Given the description of an element on the screen output the (x, y) to click on. 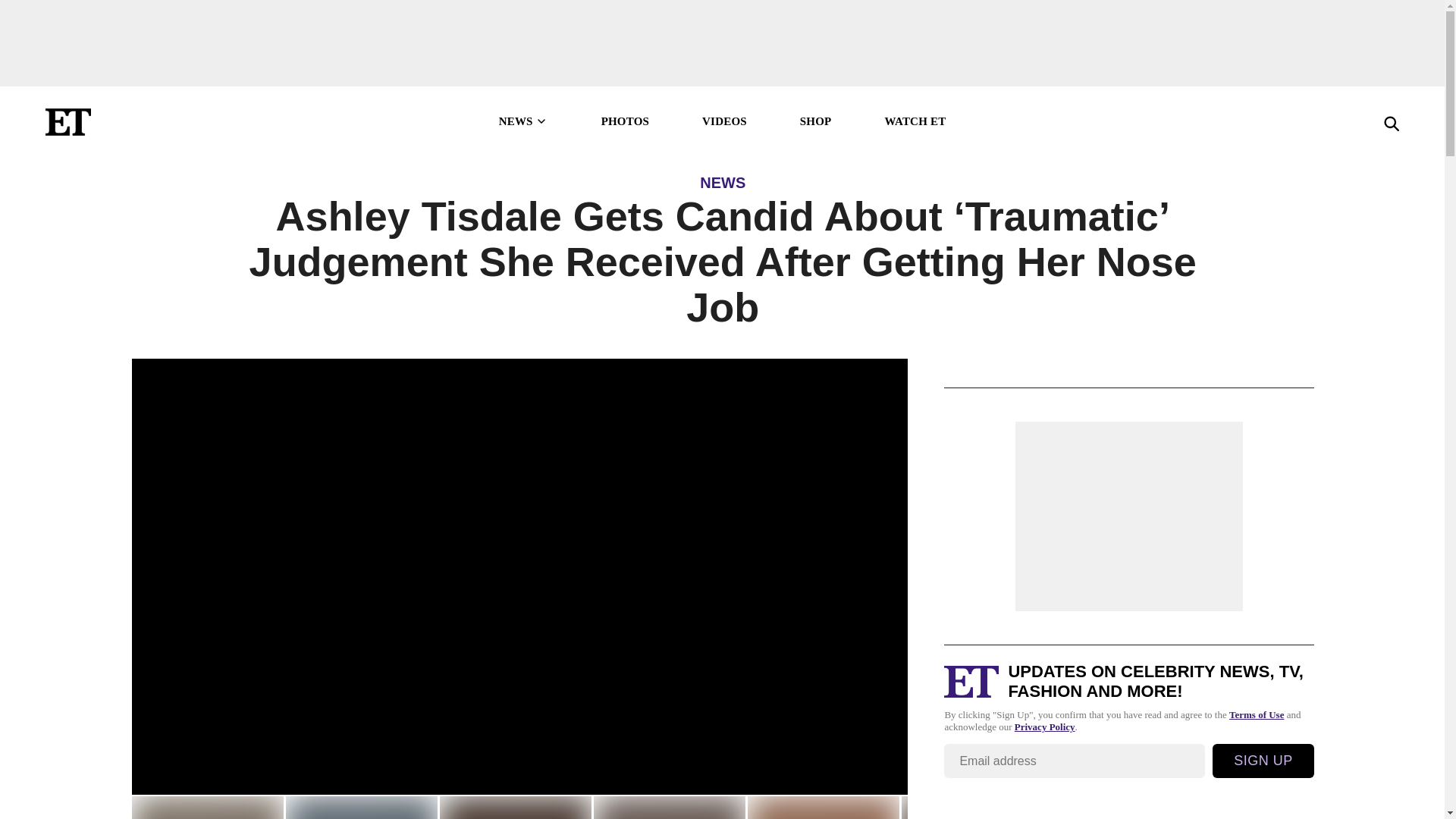
SHOP (815, 120)
VIDEOS (723, 120)
WATCH ET (913, 120)
PHOTOS (625, 120)
NEWS (523, 120)
NEWS (722, 182)
